Given the description of an element on the screen output the (x, y) to click on. 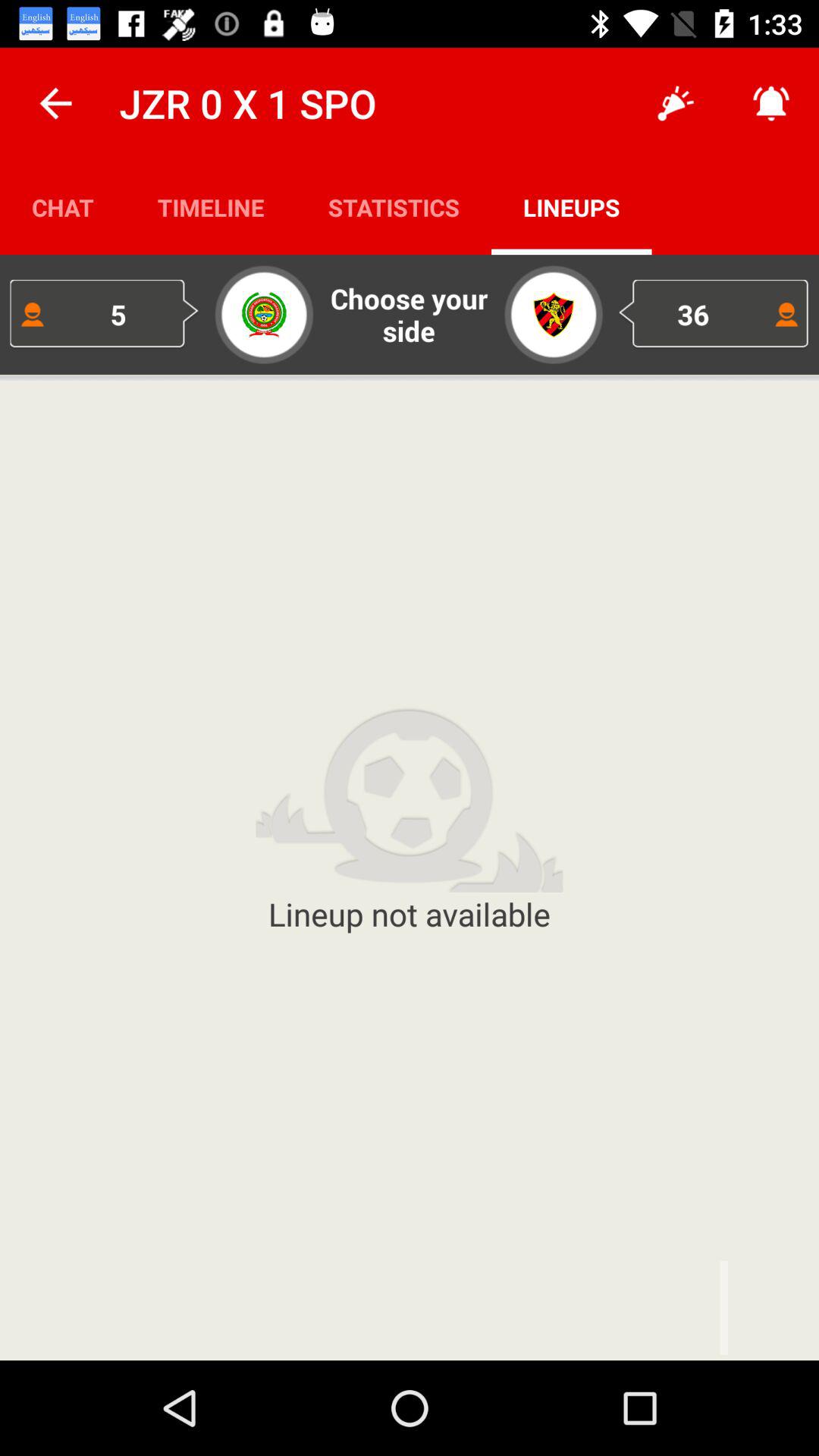
turn off the 5  icon (104, 314)
